Given the description of an element on the screen output the (x, y) to click on. 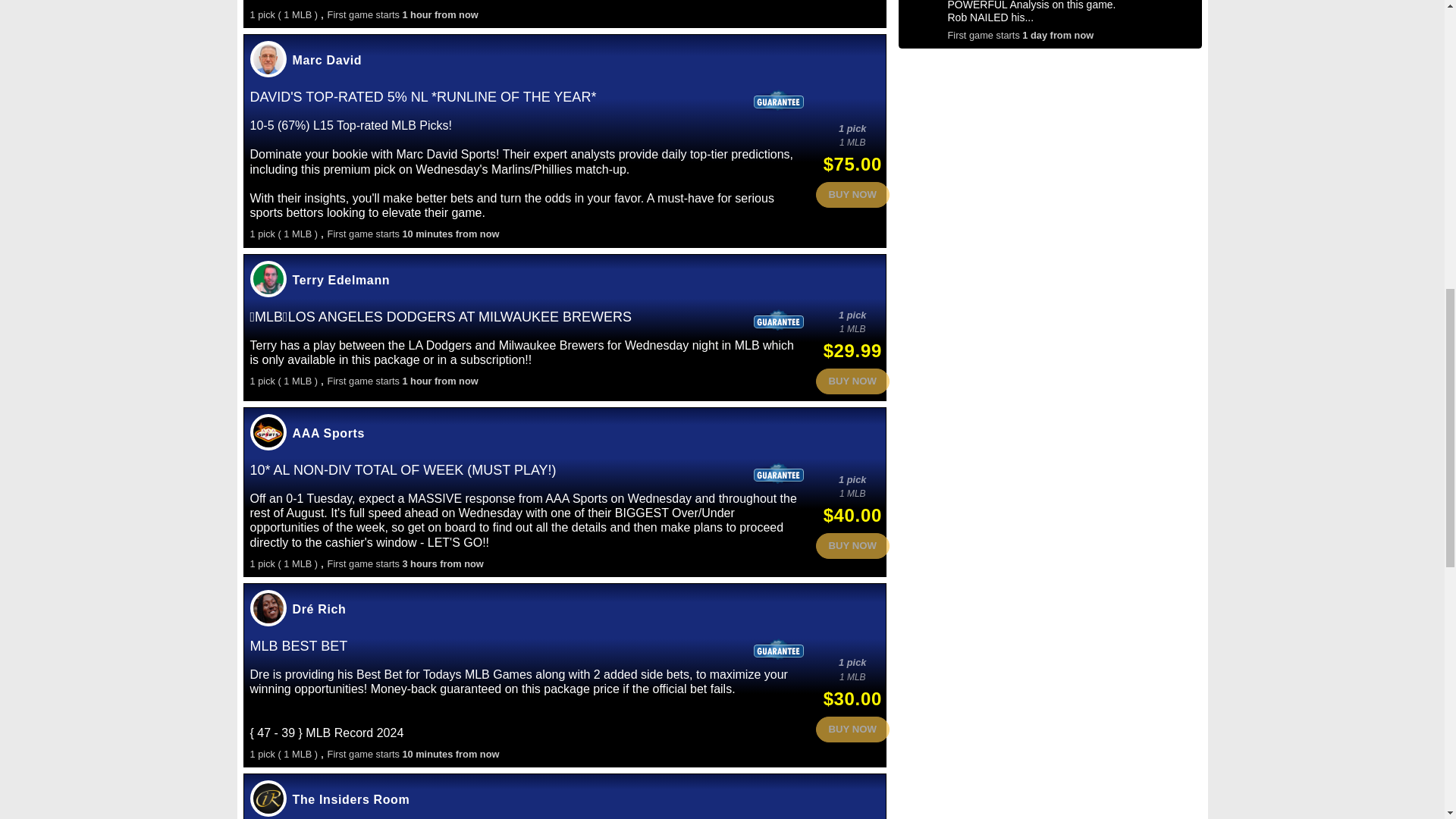
BUY NOW (852, 380)
Terry Edelmann (341, 279)
BUY NOW (852, 194)
Marc David (327, 60)
